Given the description of an element on the screen output the (x, y) to click on. 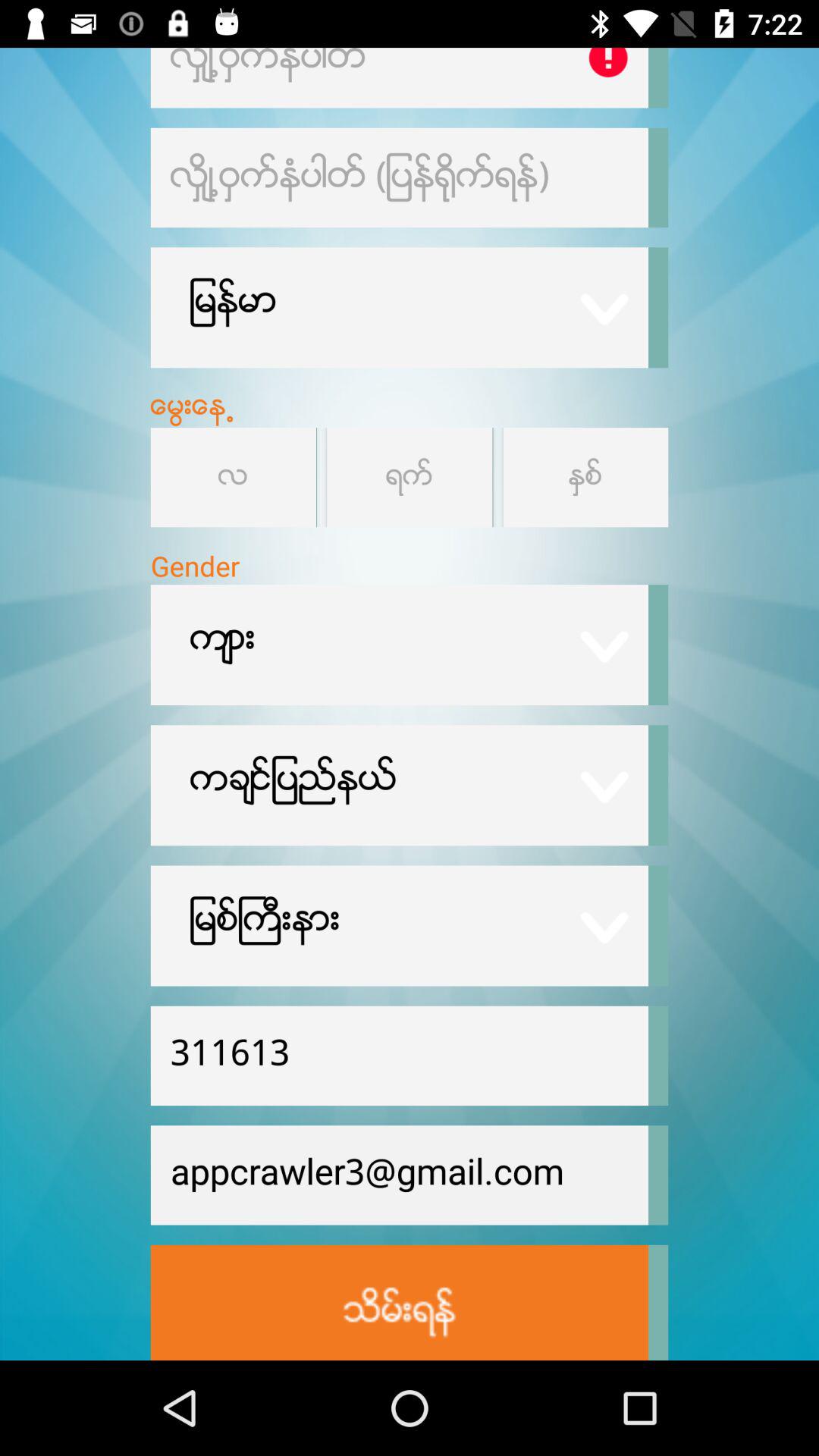
value select button (409, 477)
